Given the description of an element on the screen output the (x, y) to click on. 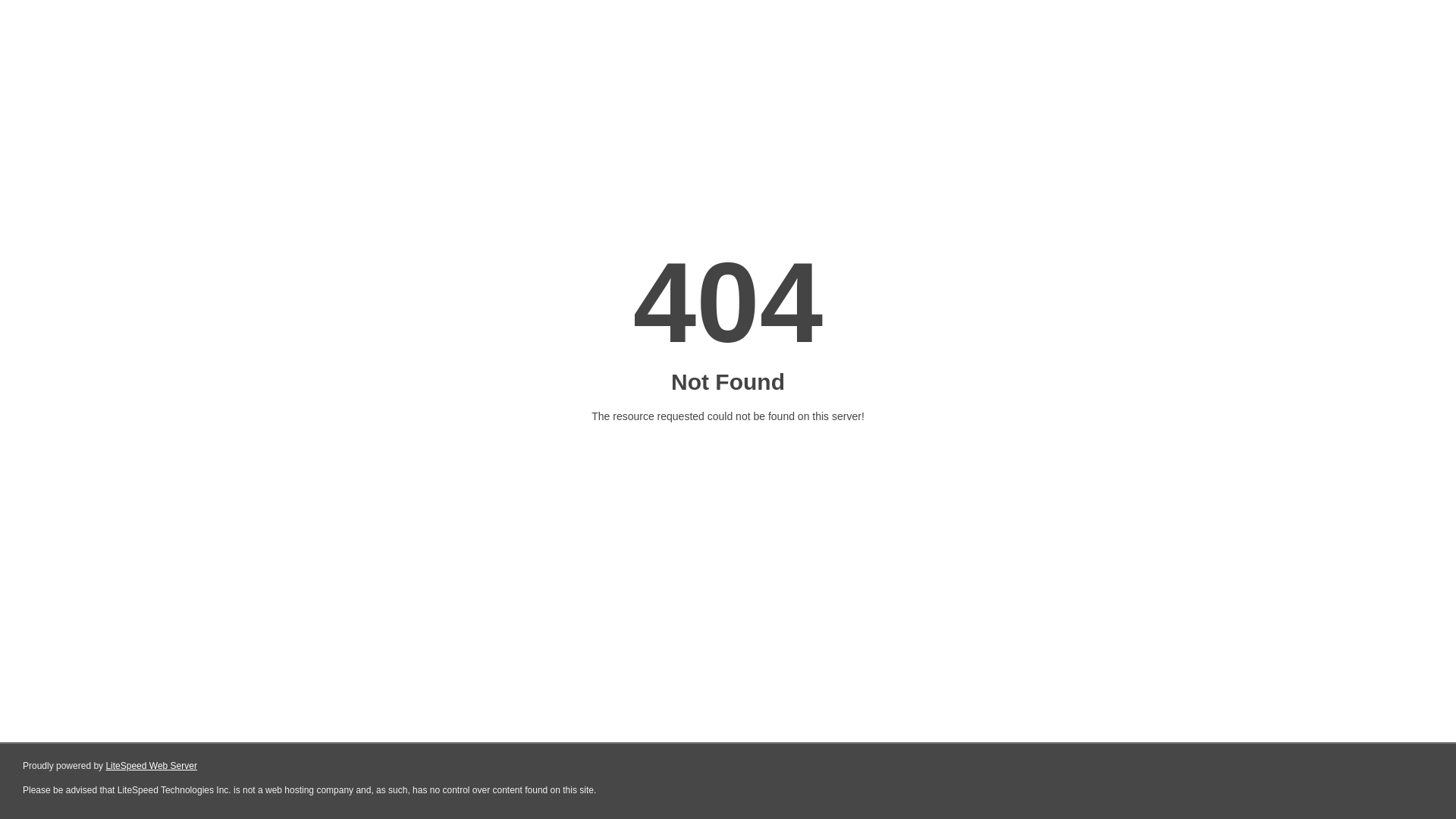
LiteSpeed Web Server Element type: text (151, 765)
